Given the description of an element on the screen output the (x, y) to click on. 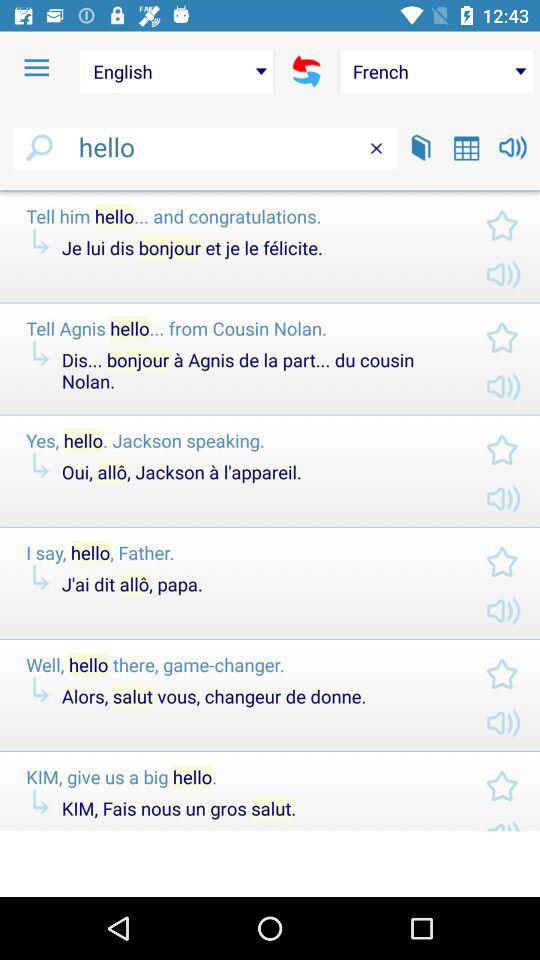
swipe until the french (436, 71)
